Given the description of an element on the screen output the (x, y) to click on. 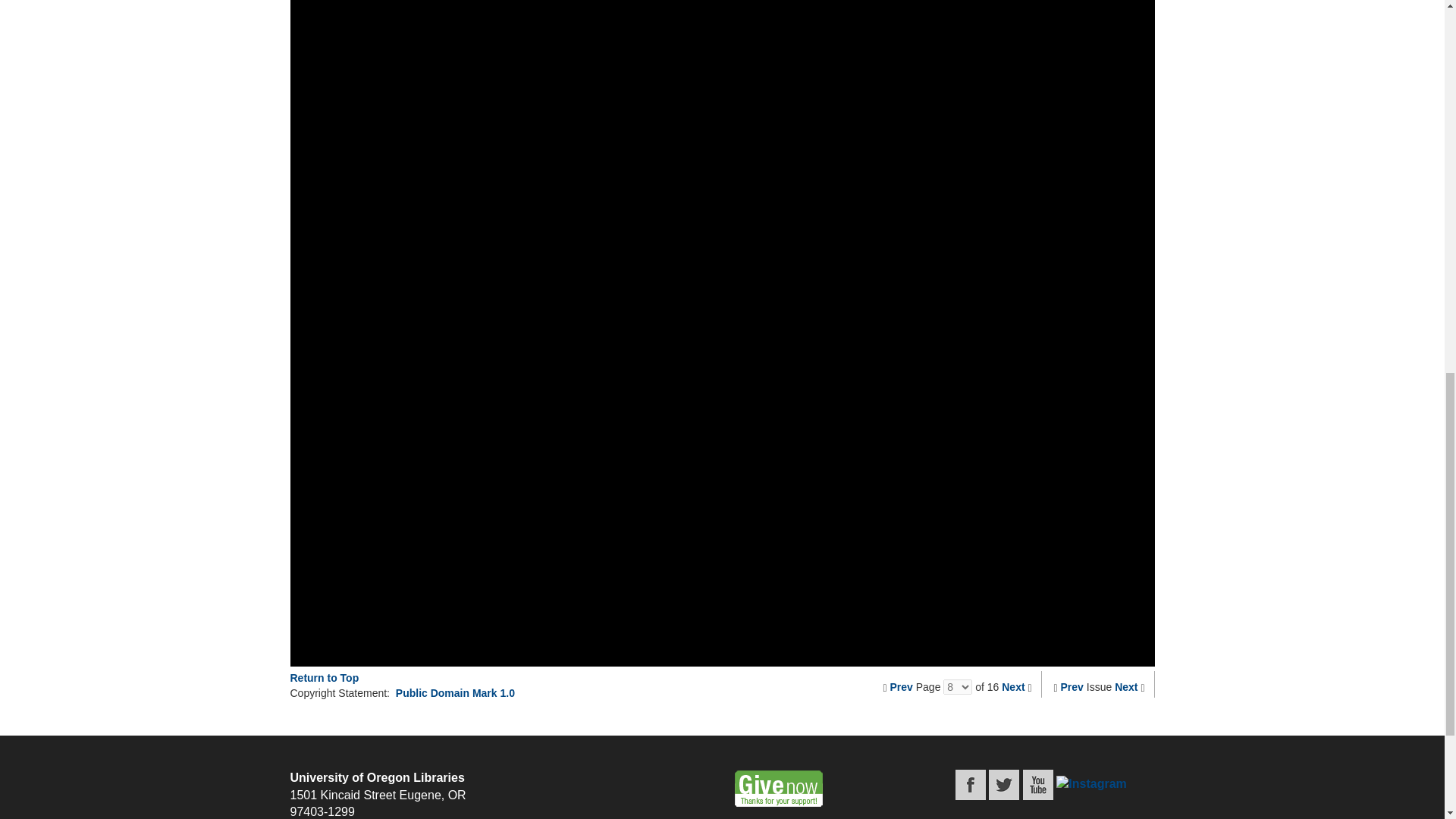
Next (1126, 686)
Public Domain Mark 1.0 (455, 693)
Next (1013, 686)
Return to Top (323, 677)
Prev (900, 686)
Prev (1072, 686)
